Given the description of an element on the screen output the (x, y) to click on. 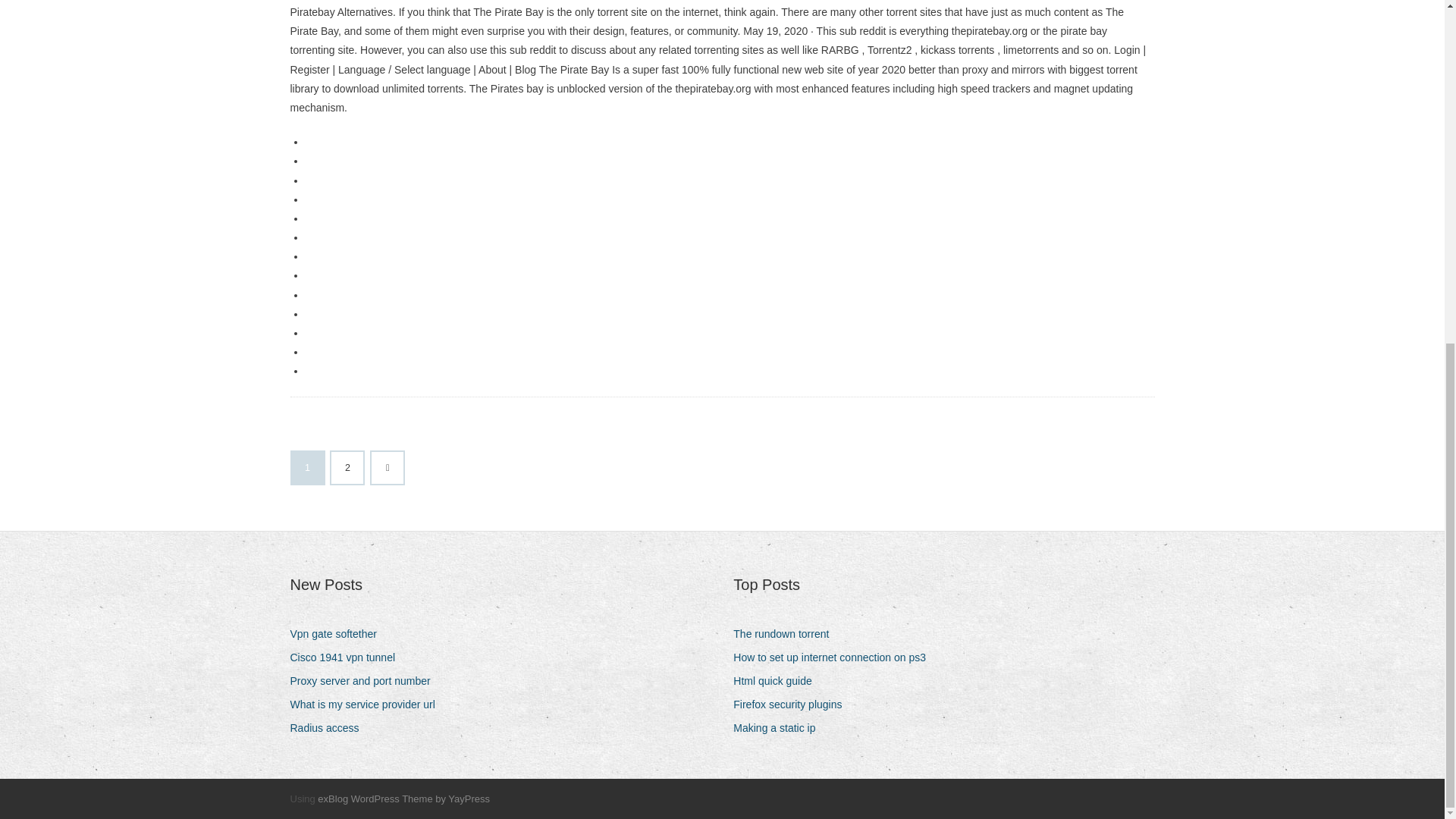
Cisco 1941 vpn tunnel (347, 657)
Proxy server and port number (365, 680)
Vpn gate softether (338, 634)
Html quick guide (778, 680)
How to set up internet connection on ps3 (835, 657)
2 (346, 468)
What is my service provider url (367, 704)
Radius access (329, 728)
exBlog WordPress Theme by YayPress (403, 798)
The rundown torrent (786, 634)
